Given the description of an element on the screen output the (x, y) to click on. 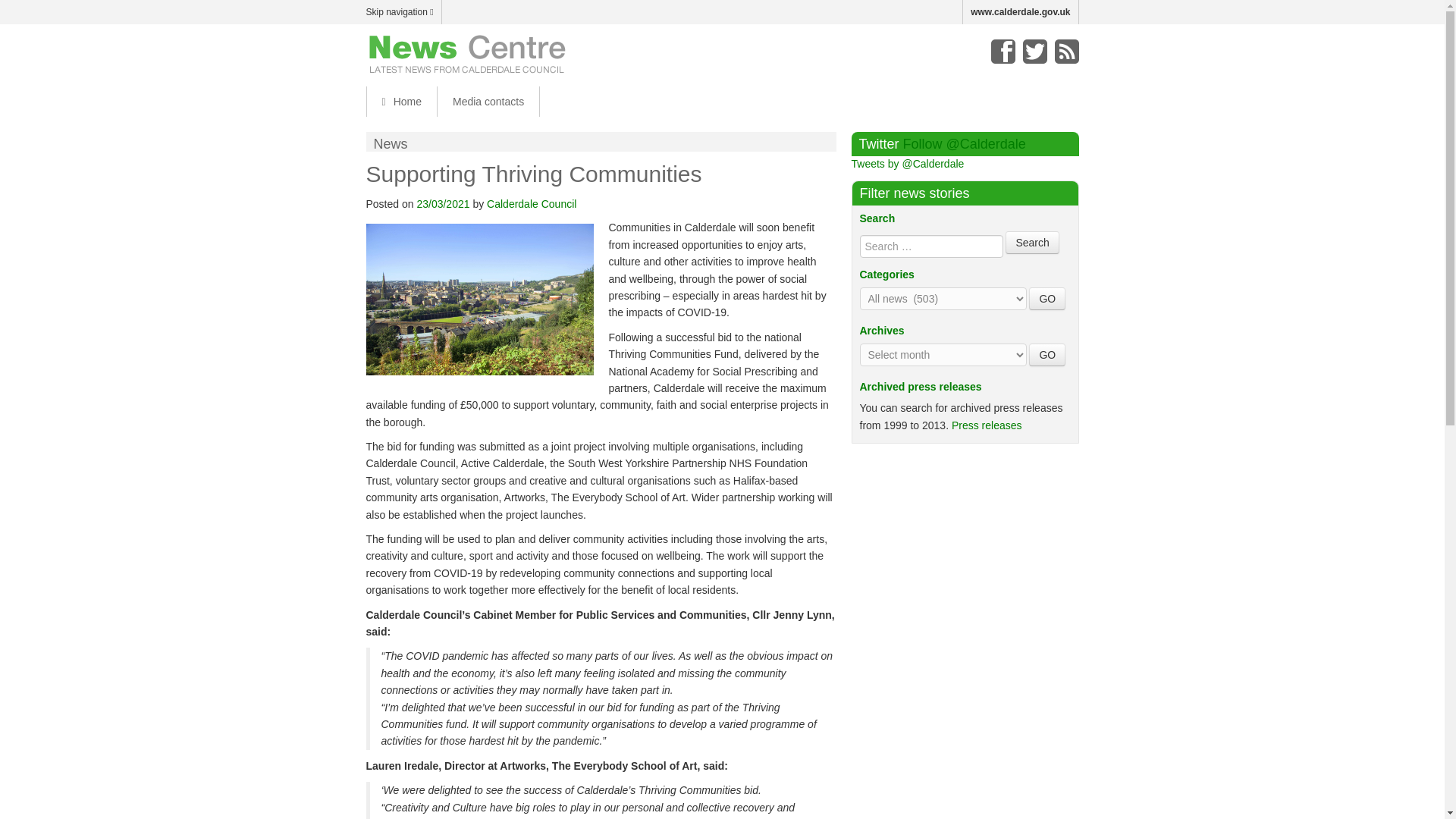
View all posts by Calderdale Council (531, 203)
Skip navigation (403, 12)
www.calderdale.gov.uk (1020, 12)
Search (1032, 241)
RSS (1066, 51)
Twitter (1034, 51)
Press releases (987, 425)
GO (1047, 354)
Media contacts (489, 101)
GO (1047, 298)
Search (1032, 241)
Home (400, 101)
Facebook (1002, 51)
9:46 am (442, 203)
Home (400, 101)
